Given the description of an element on the screen output the (x, y) to click on. 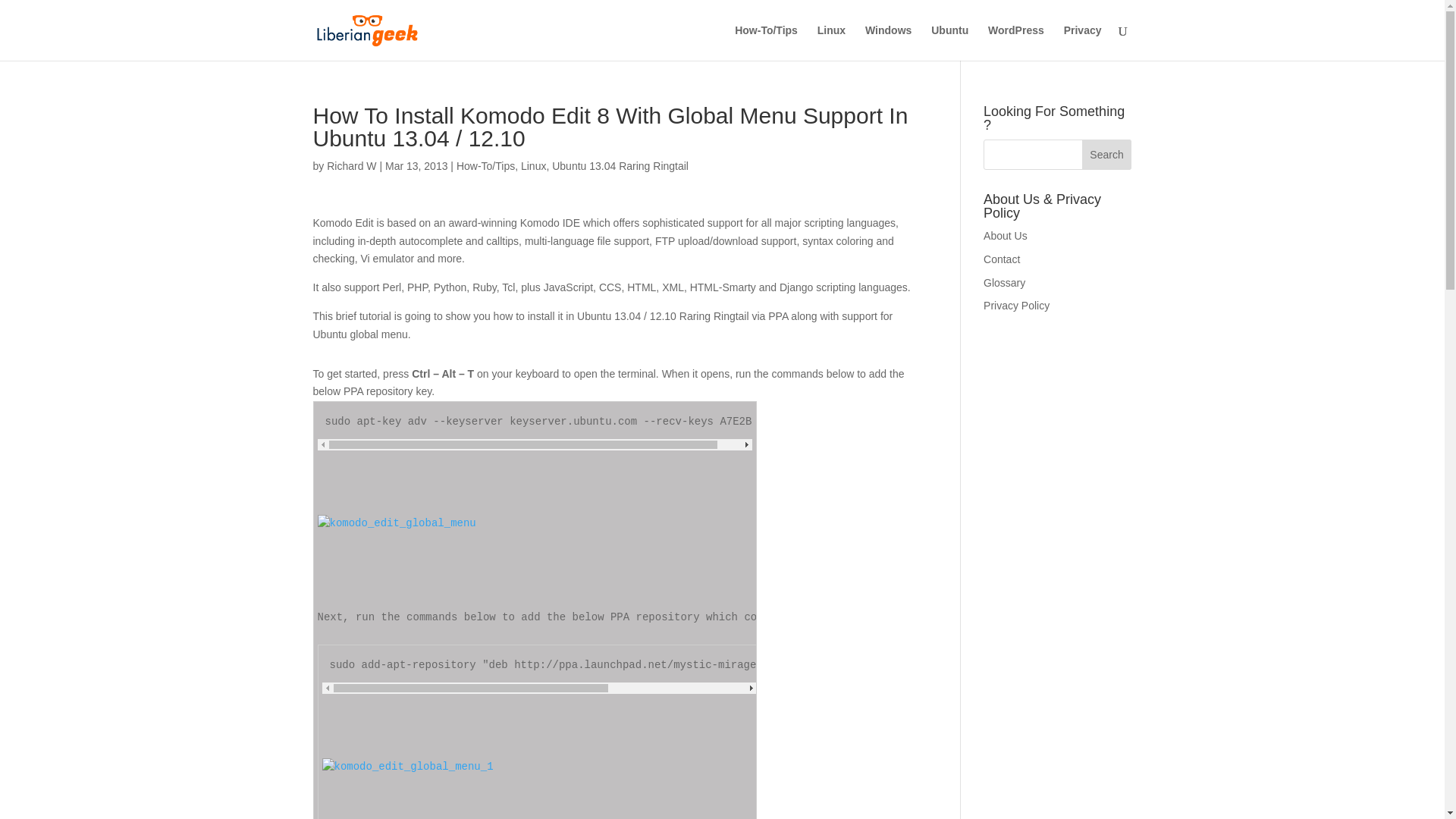
About Us (1005, 235)
Glossary (1004, 282)
Linux (533, 165)
Ubuntu 13.04 Raring Ringtail (619, 165)
Privacy (1083, 42)
Contact (1002, 259)
Wordpress Tutorials (1015, 42)
WordPress (1015, 42)
Posts by Richard W (350, 165)
Ubuntu Tutorials (949, 42)
